Given the description of an element on the screen output the (x, y) to click on. 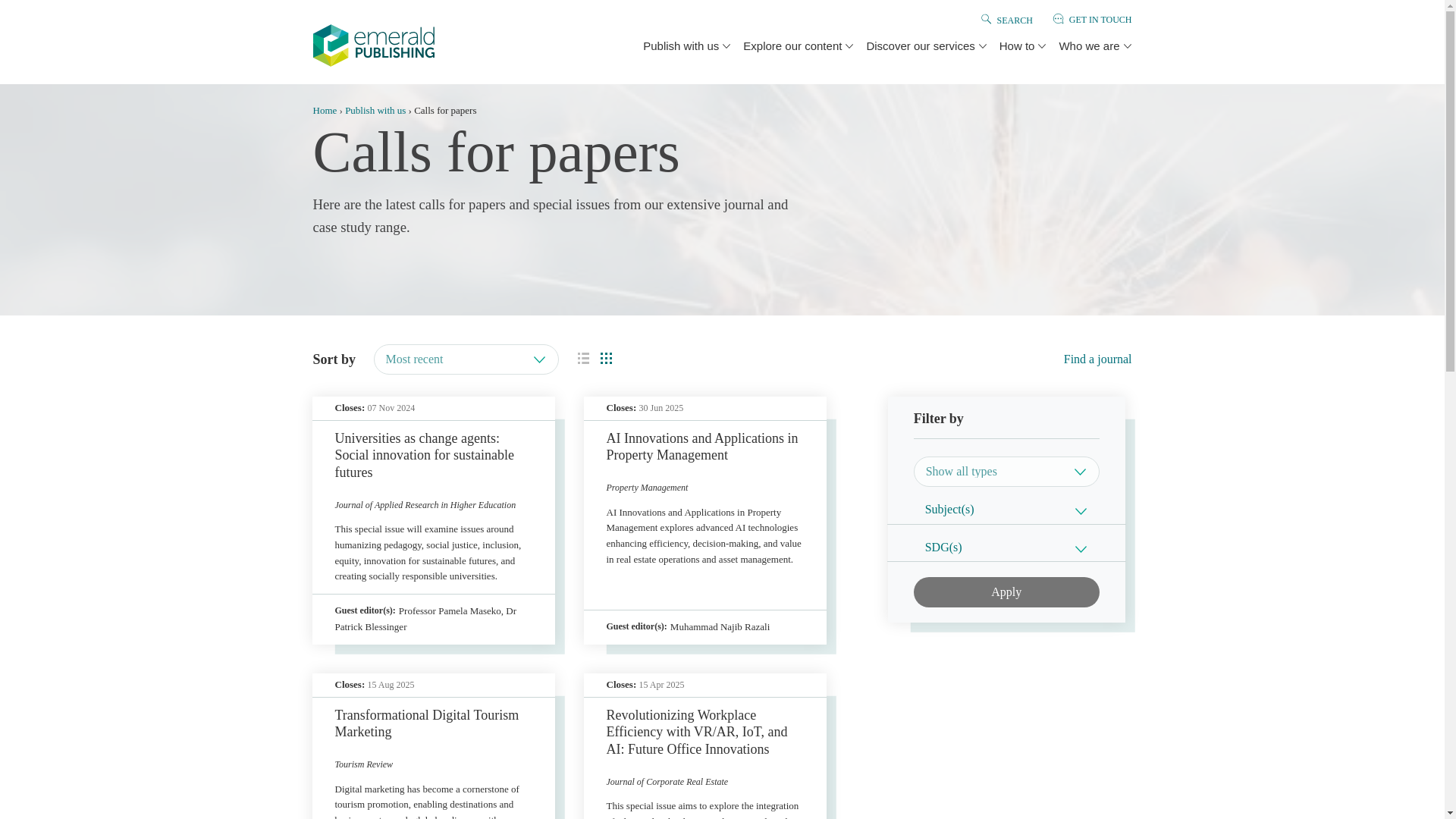
GET IN TOUCH (1100, 19)
SEARCH (1013, 20)
Publish with us (680, 45)
